Given the description of an element on the screen output the (x, y) to click on. 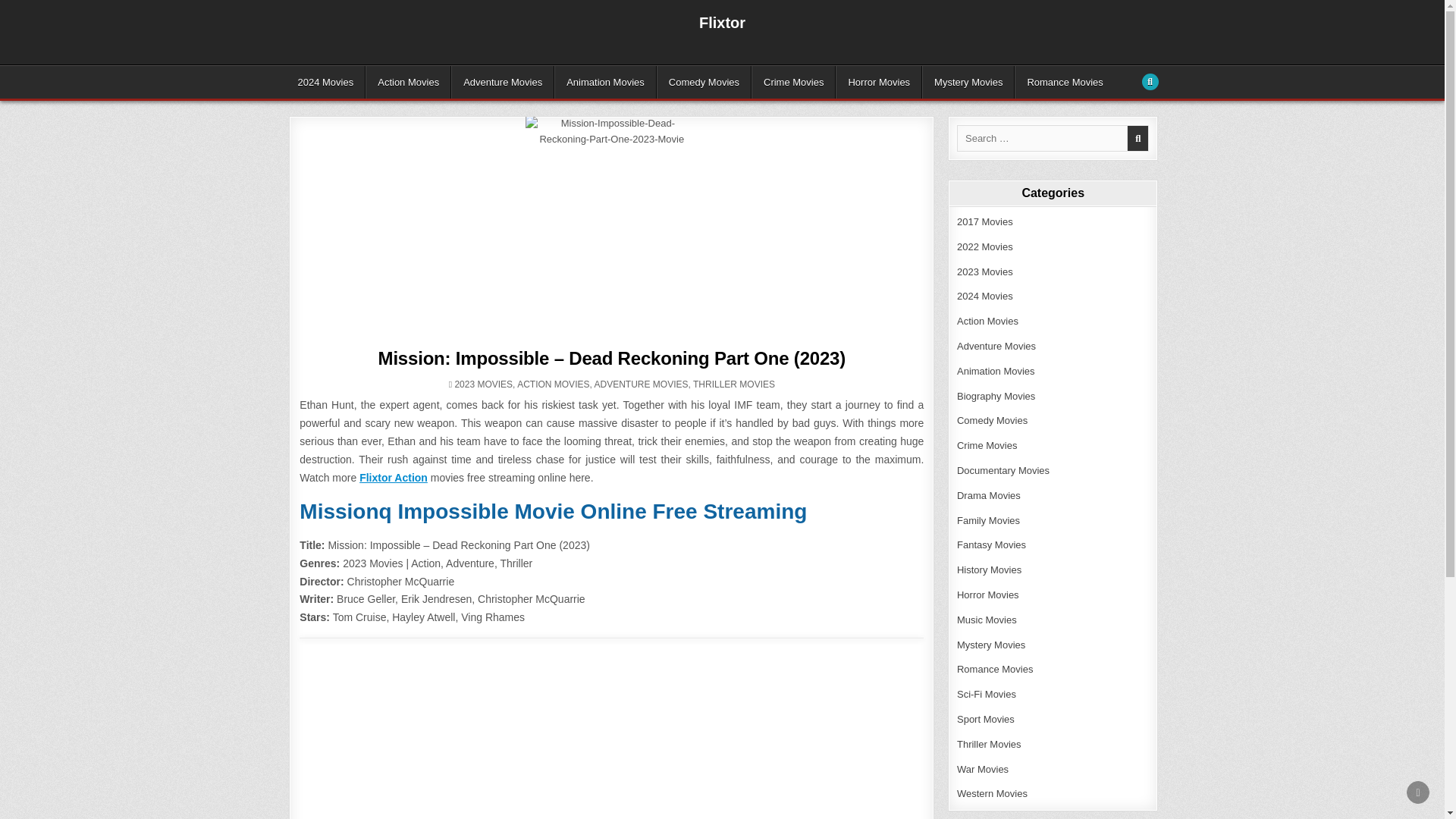
2024 Movies (326, 82)
2024 Movies (984, 296)
Adventure Movies (502, 82)
Crime Movies (986, 445)
Animation Movies (605, 82)
Action Movies (408, 82)
History Movies (989, 569)
Flixtor (721, 22)
Scroll to Top (1417, 792)
Crime Movies (793, 82)
2023 Movies (984, 271)
2022 Movies (984, 246)
THRILLER MOVIES (733, 384)
Biography Movies (995, 396)
Animation Movies (995, 370)
